Given the description of an element on the screen output the (x, y) to click on. 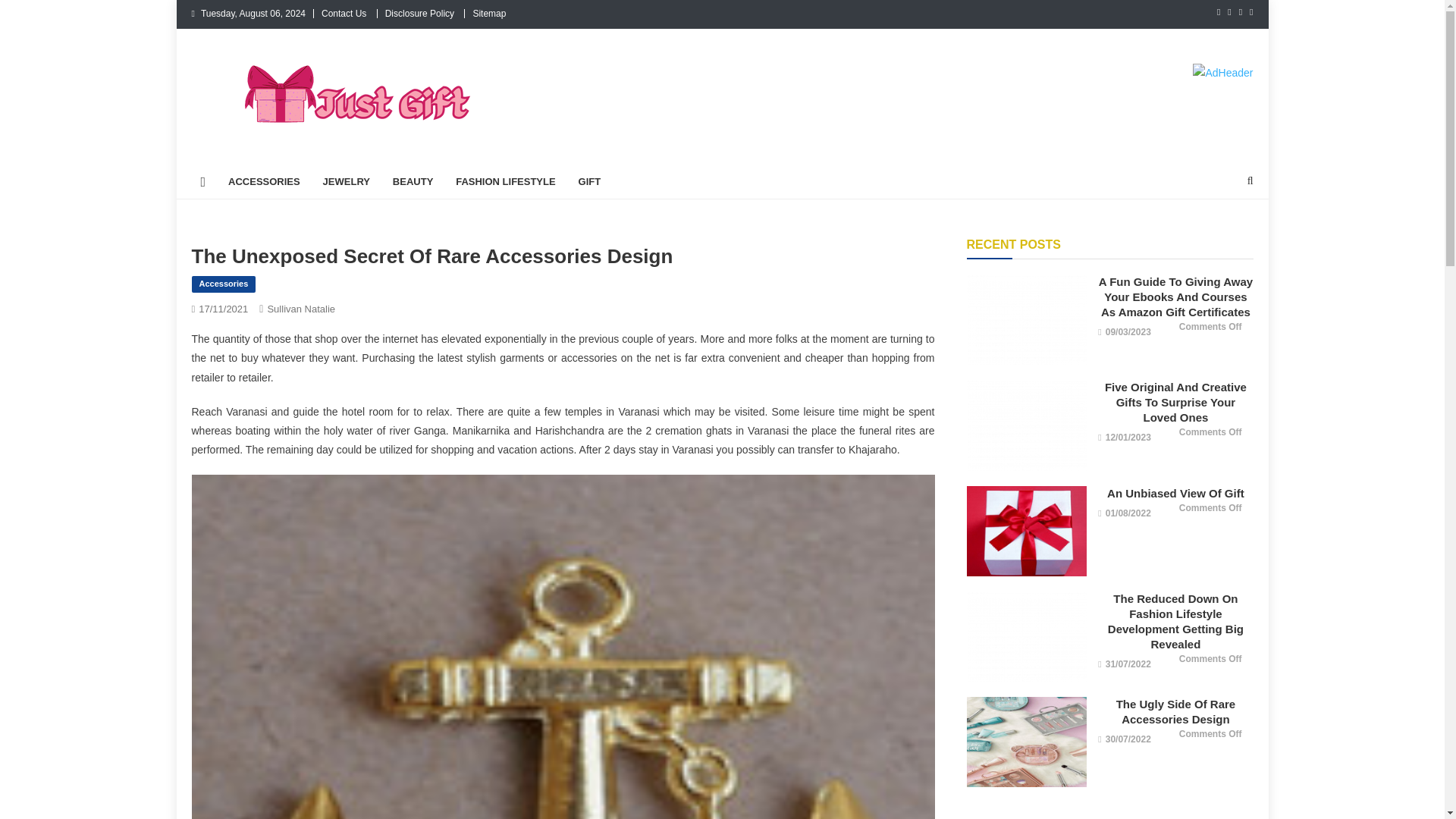
Sitemap (488, 13)
The Ugly Side of Rare Accessories Design 10 (1026, 741)
ACCESSORIES (263, 182)
Accessories (223, 284)
BEAUTY (412, 182)
JEWELRY (346, 182)
GIFT (589, 182)
Sullivan Natalie (300, 308)
FASHION LIFESTYLE (505, 182)
An Unbiased View of Gift 8 (1026, 531)
Contact Us (343, 13)
Disclosure Policy (419, 13)
